Given the description of an element on the screen output the (x, y) to click on. 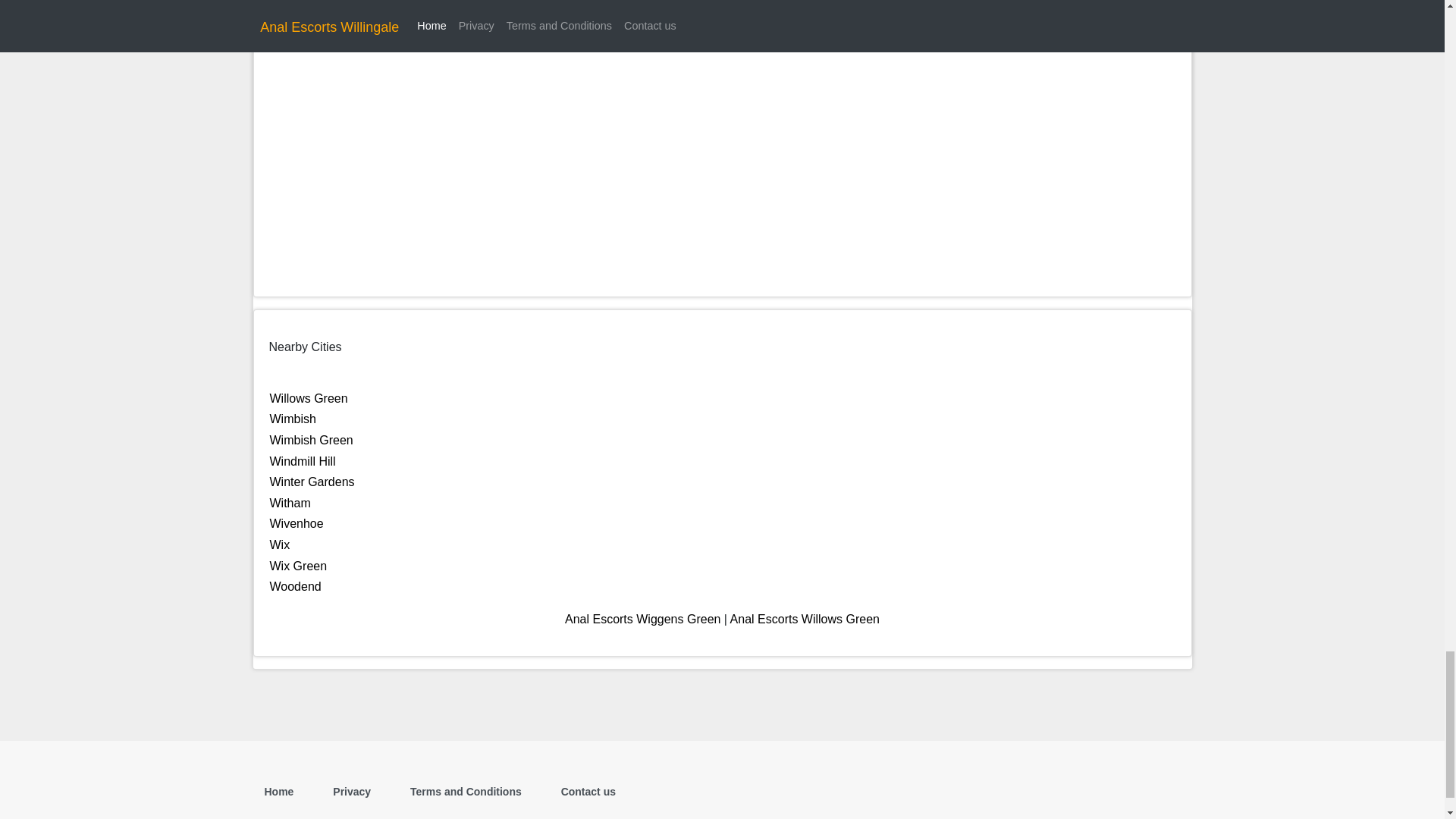
Anal Escorts Willows Green (804, 618)
Wimbish (292, 418)
Anal Escorts Wiggens Green (642, 618)
Winter Gardens (312, 481)
Witham (290, 502)
Windmill Hill (302, 461)
Woodend (295, 585)
Wimbish Green (311, 440)
Willows Green (308, 398)
Wivenhoe (296, 522)
Wix (279, 544)
Wix Green (298, 565)
